Given the description of an element on the screen output the (x, y) to click on. 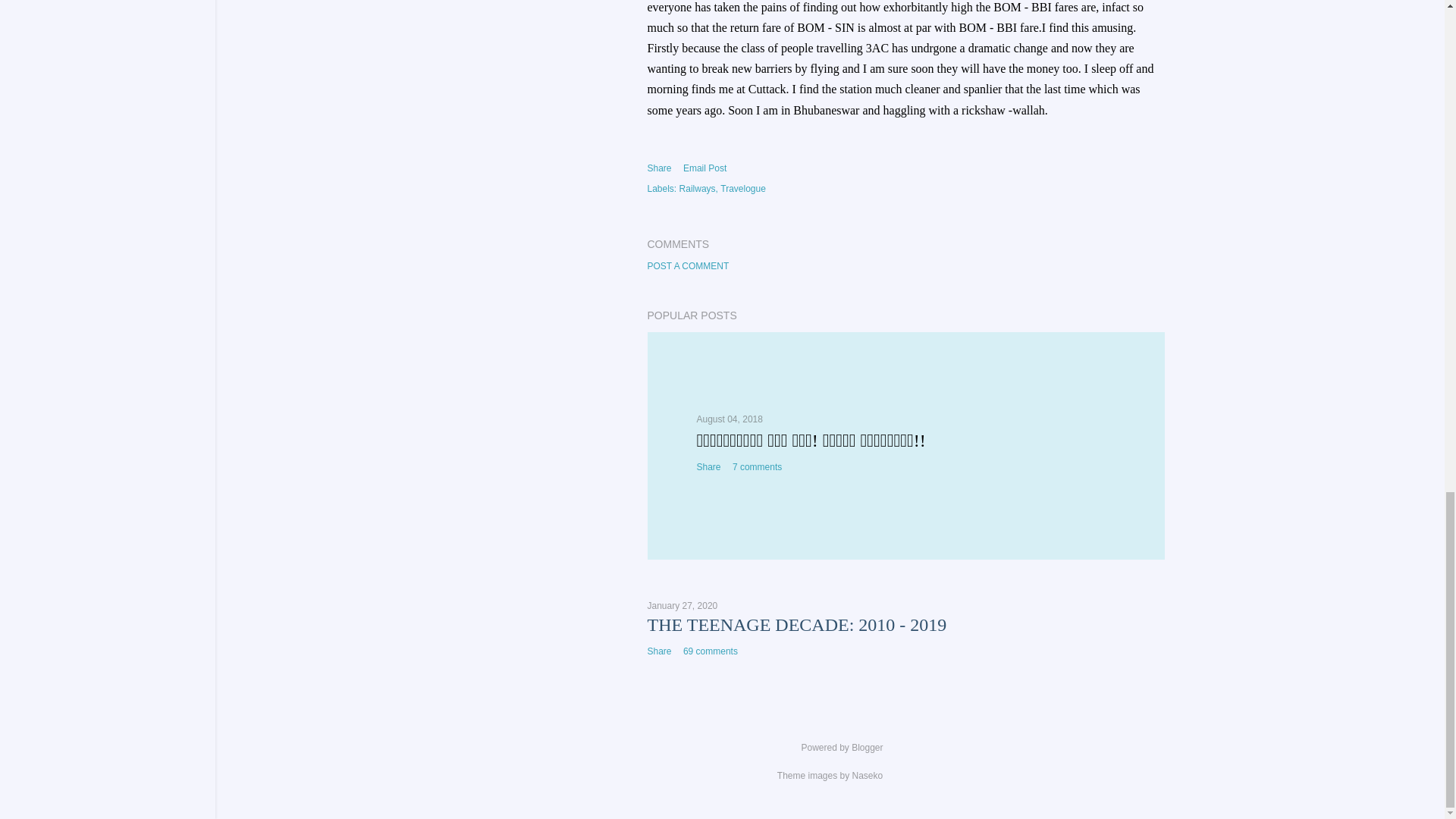
January 27, 2020 (682, 605)
7 comments (756, 466)
POST A COMMENT (688, 266)
Share (659, 651)
Share (707, 466)
Travelogue (742, 188)
August 04, 2018 (728, 419)
69 comments (710, 651)
Railways (698, 188)
Share (659, 167)
permanent link (728, 419)
Email Post (704, 168)
THE TEENAGE DECADE: 2010 - 2019 (797, 624)
Naseko (867, 775)
